Given the description of an element on the screen output the (x, y) to click on. 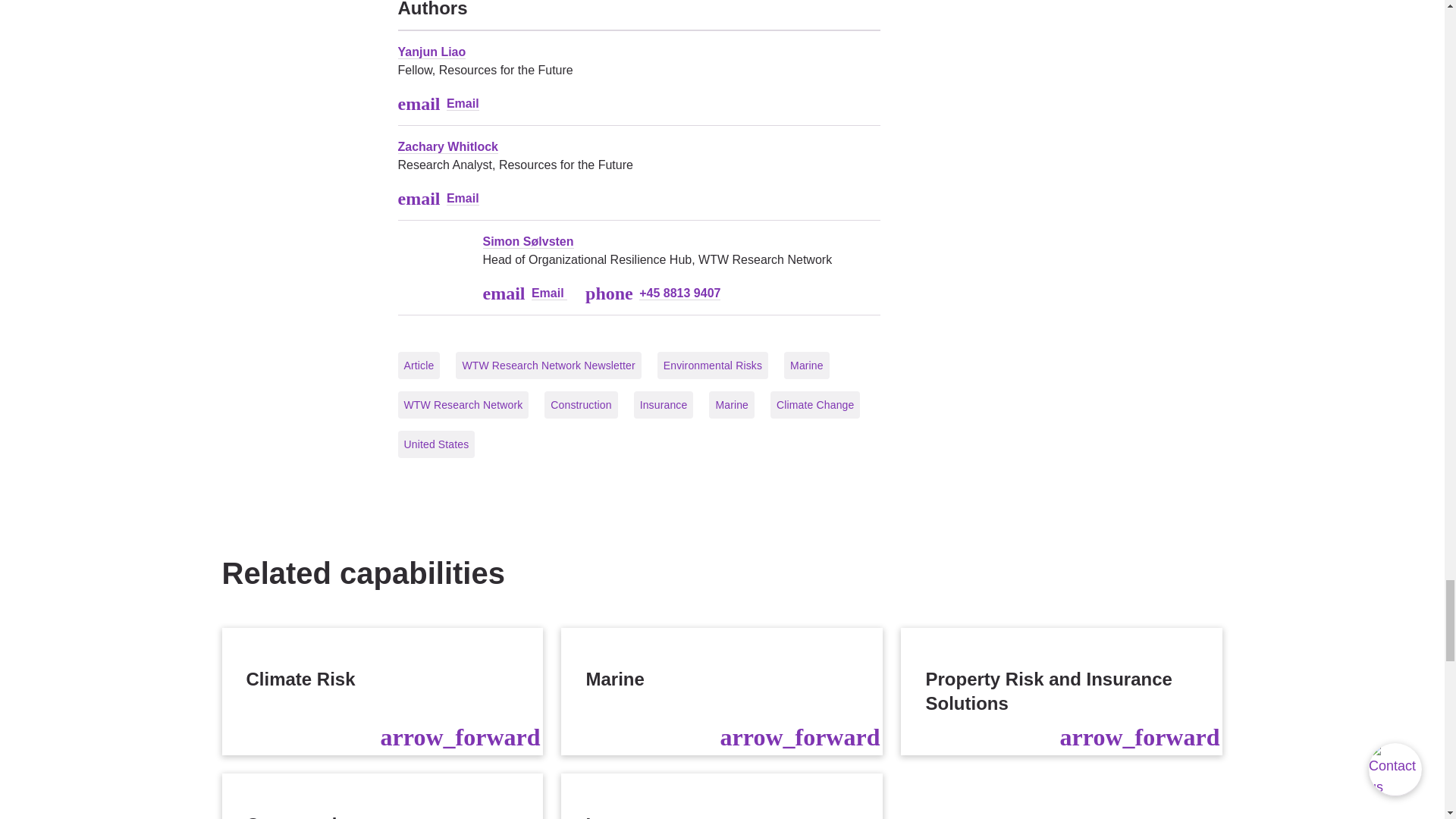
Insurance (721, 796)
Property Risk and Insurance Solutions (1062, 691)
Construction (382, 796)
Marine (721, 691)
Climate Risk (382, 691)
